Given the description of an element on the screen output the (x, y) to click on. 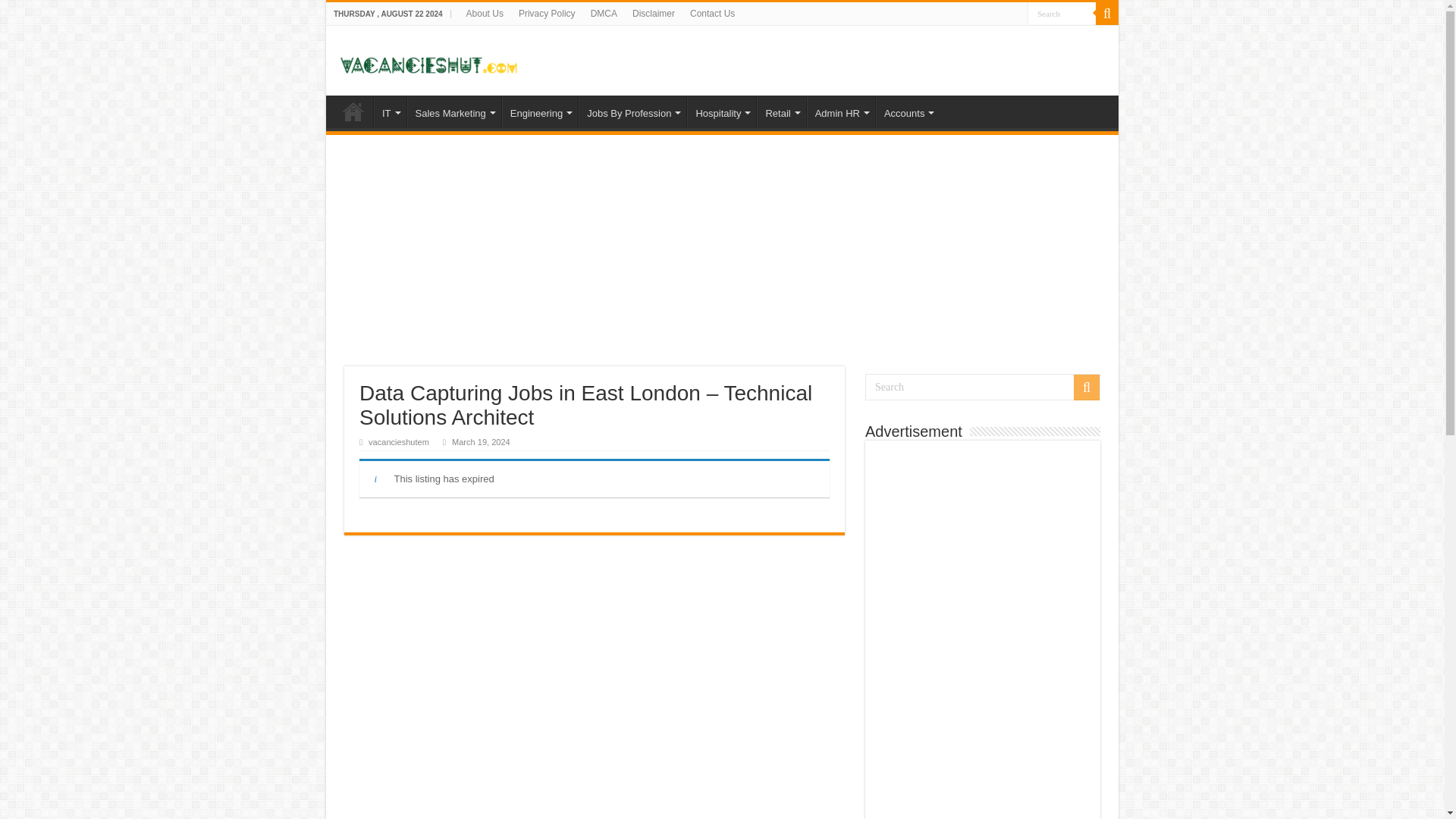
Search (982, 386)
Vacancieshut (428, 58)
Search (1061, 13)
Search (1061, 13)
Search (1061, 13)
